Given the description of an element on the screen output the (x, y) to click on. 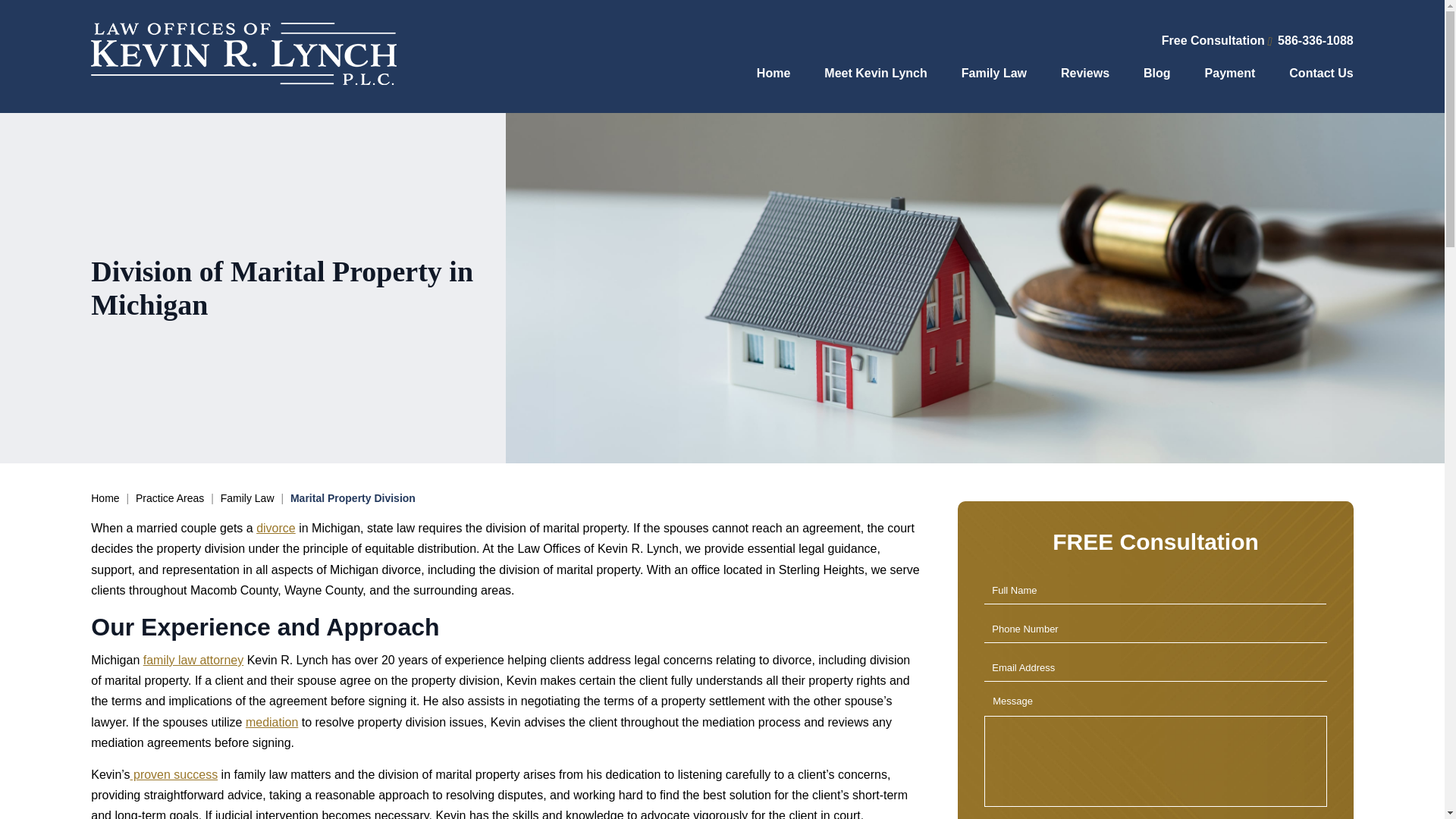
Reviews (1085, 73)
Payment (1230, 73)
Meet Kevin Lynch (875, 73)
Family Law (993, 73)
Contact Us (1320, 73)
586-336-1088 (1310, 40)
Blog (1156, 73)
Home (773, 73)
Free Consultation (1213, 40)
